Given the description of an element on the screen output the (x, y) to click on. 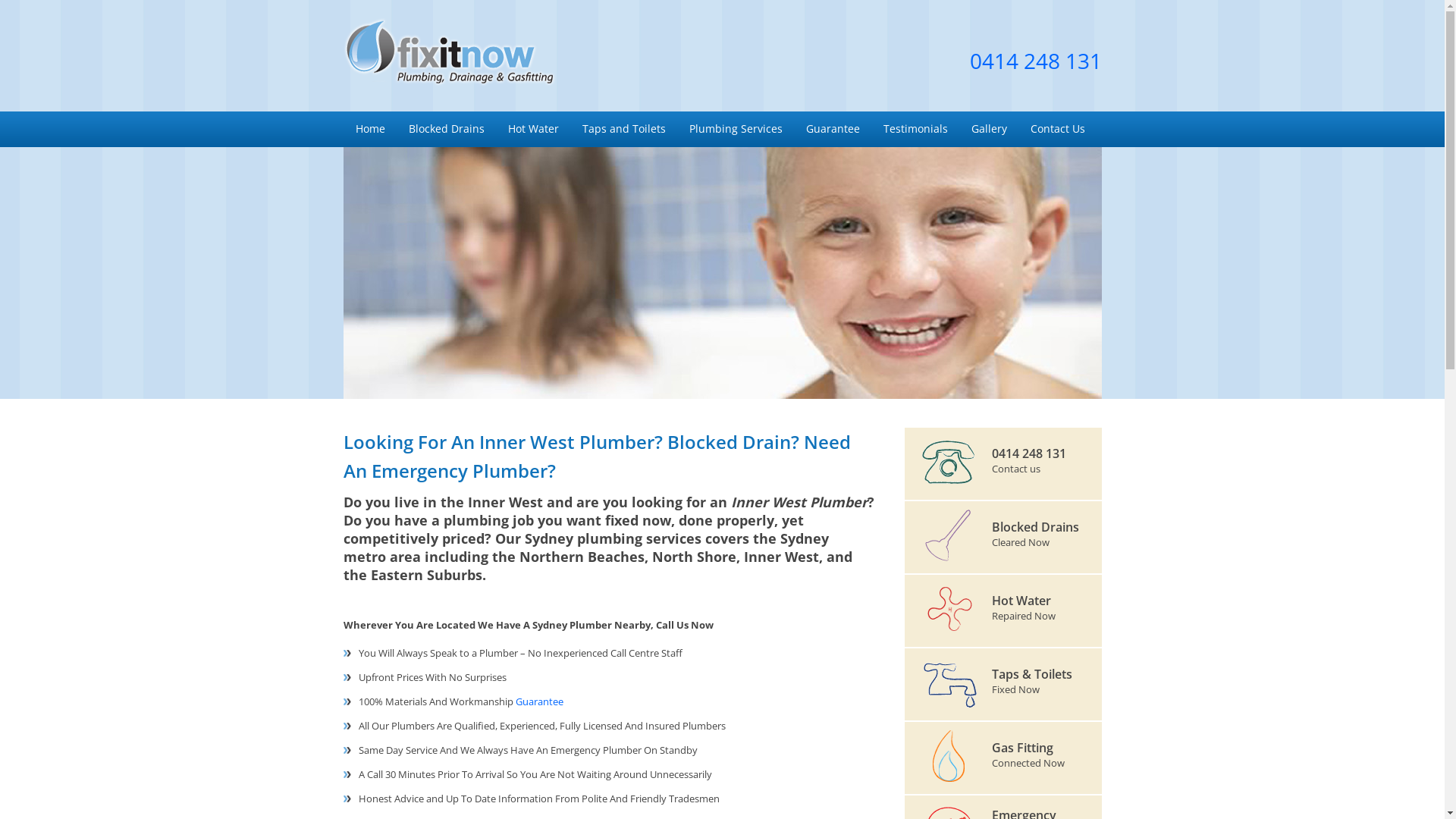
Taps and Toilets Element type: text (623, 127)
Guarantee Element type: text (831, 127)
Blocked Drains Element type: text (445, 127)
Taps & Toilets
Fixed Now Element type: text (1002, 684)
Testimonials Element type: text (914, 127)
Contact Us Element type: text (1056, 127)
0414 248 131
Contact us Element type: text (1002, 464)
Blocked Drains
Cleared Now Element type: text (1002, 537)
Guarantee Element type: text (539, 701)
Gas Fitting
Connected Now Element type: text (1002, 758)
Home Element type: text (368, 127)
0414 248 131 Element type: text (1035, 60)
Plumbing Services Element type: text (734, 127)
Hot Water
Repaired Now Element type: text (1002, 611)
Gallery Element type: text (987, 127)
Hot Water Element type: text (532, 127)
